Given the description of an element on the screen output the (x, y) to click on. 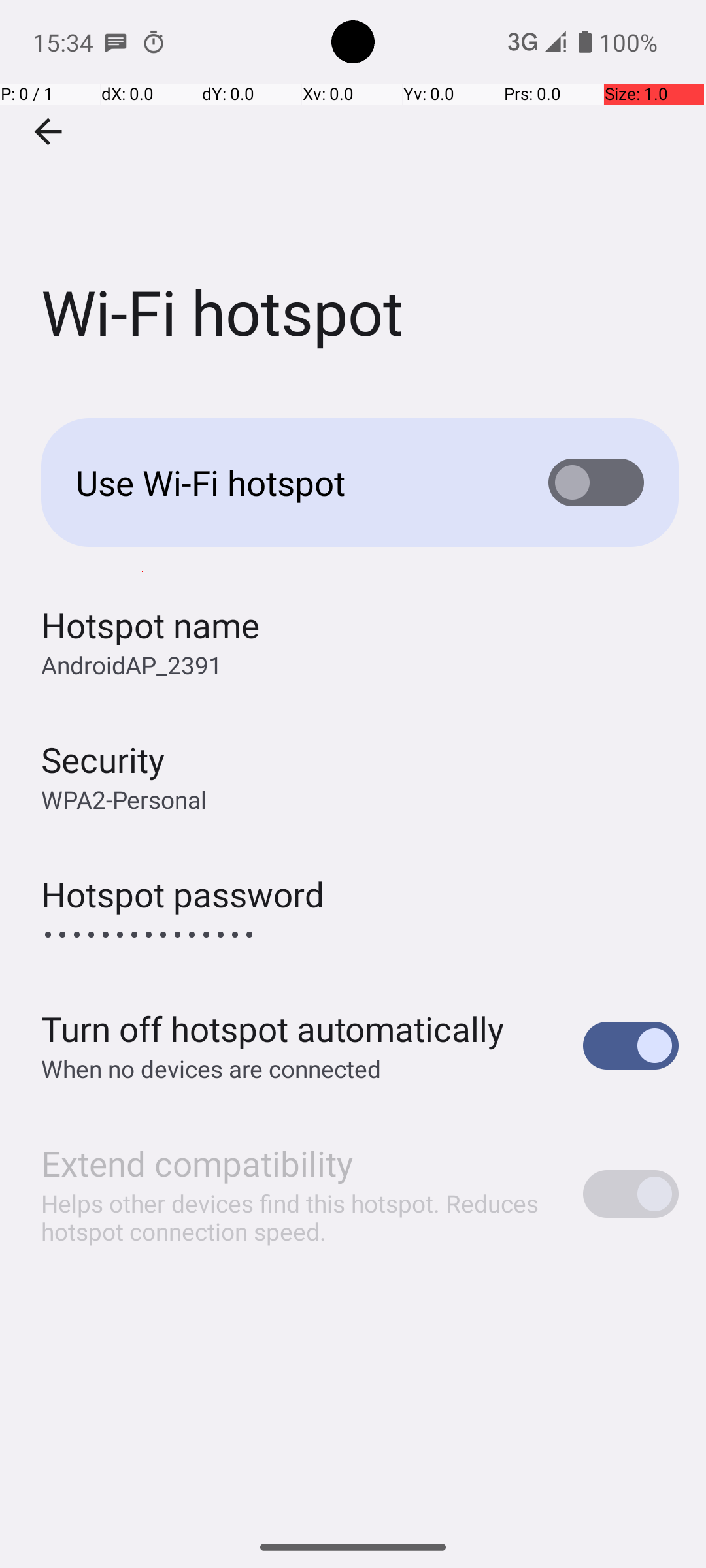
Wi‑Fi hotspot Element type: android.widget.FrameLayout (353, 195)
Use Wi‑Fi hotspot Element type: android.widget.TextView (291, 482)
Hotspot name Element type: android.widget.TextView (150, 624)
AndroidAP_2391 Element type: android.widget.TextView (131, 664)
WPA2-Personal Element type: android.widget.TextView (124, 799)
Hotspot password Element type: android.widget.TextView (182, 893)
••••••••••••••• Element type: android.widget.TextView (148, 933)
Turn off hotspot automatically Element type: android.widget.TextView (272, 1028)
When no devices are connected Element type: android.widget.TextView (211, 1068)
Extend compatibility Element type: android.widget.TextView (197, 1163)
Helps other devices find this hotspot. Reduces hotspot connection speed. Element type: android.widget.TextView (298, 1216)
